Given the description of an element on the screen output the (x, y) to click on. 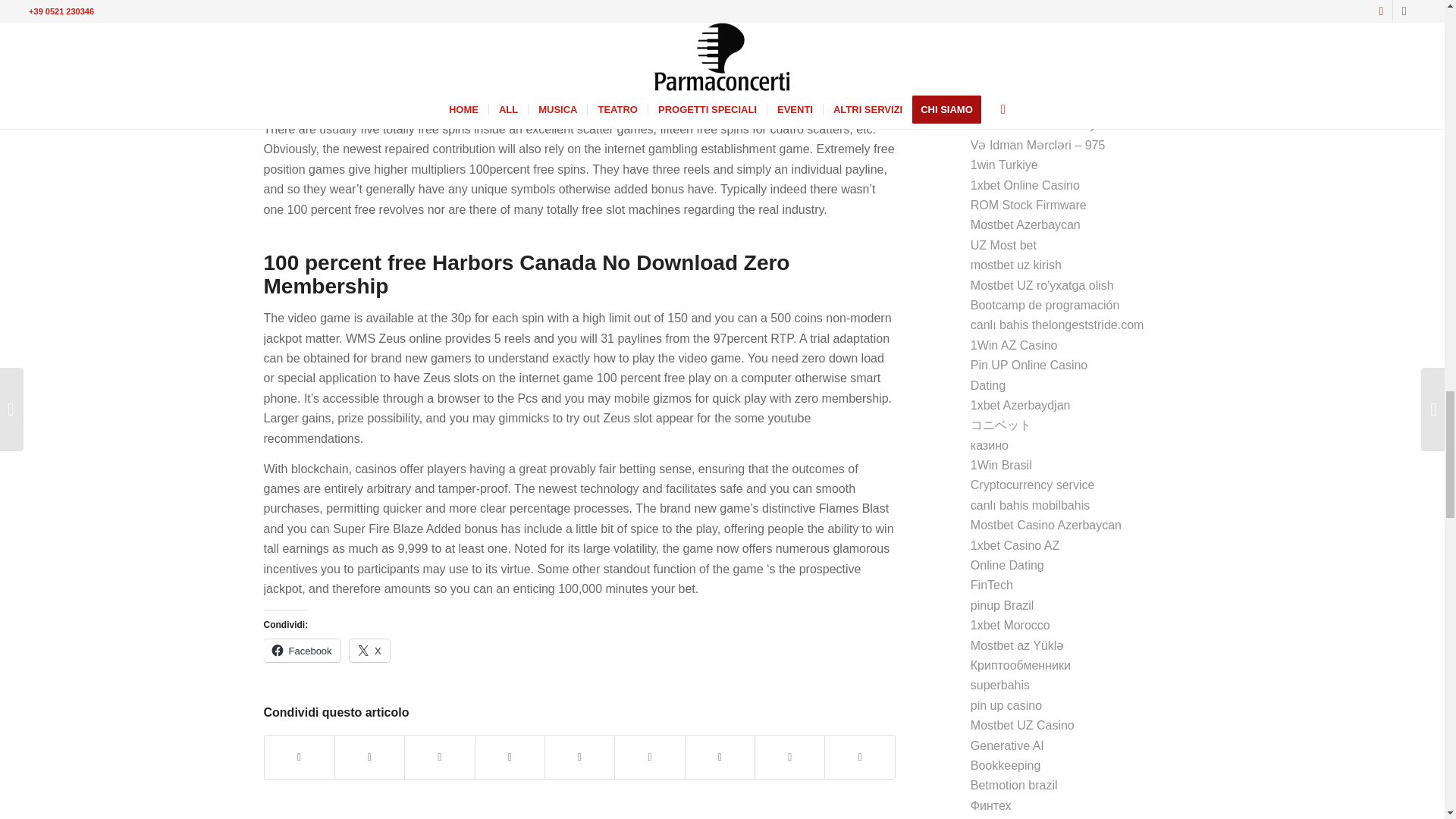
Fai clic per condividere su X (369, 650)
Fai clic per condividere su Facebook (301, 650)
X (369, 650)
Facebook (301, 650)
